Given the description of an element on the screen output the (x, y) to click on. 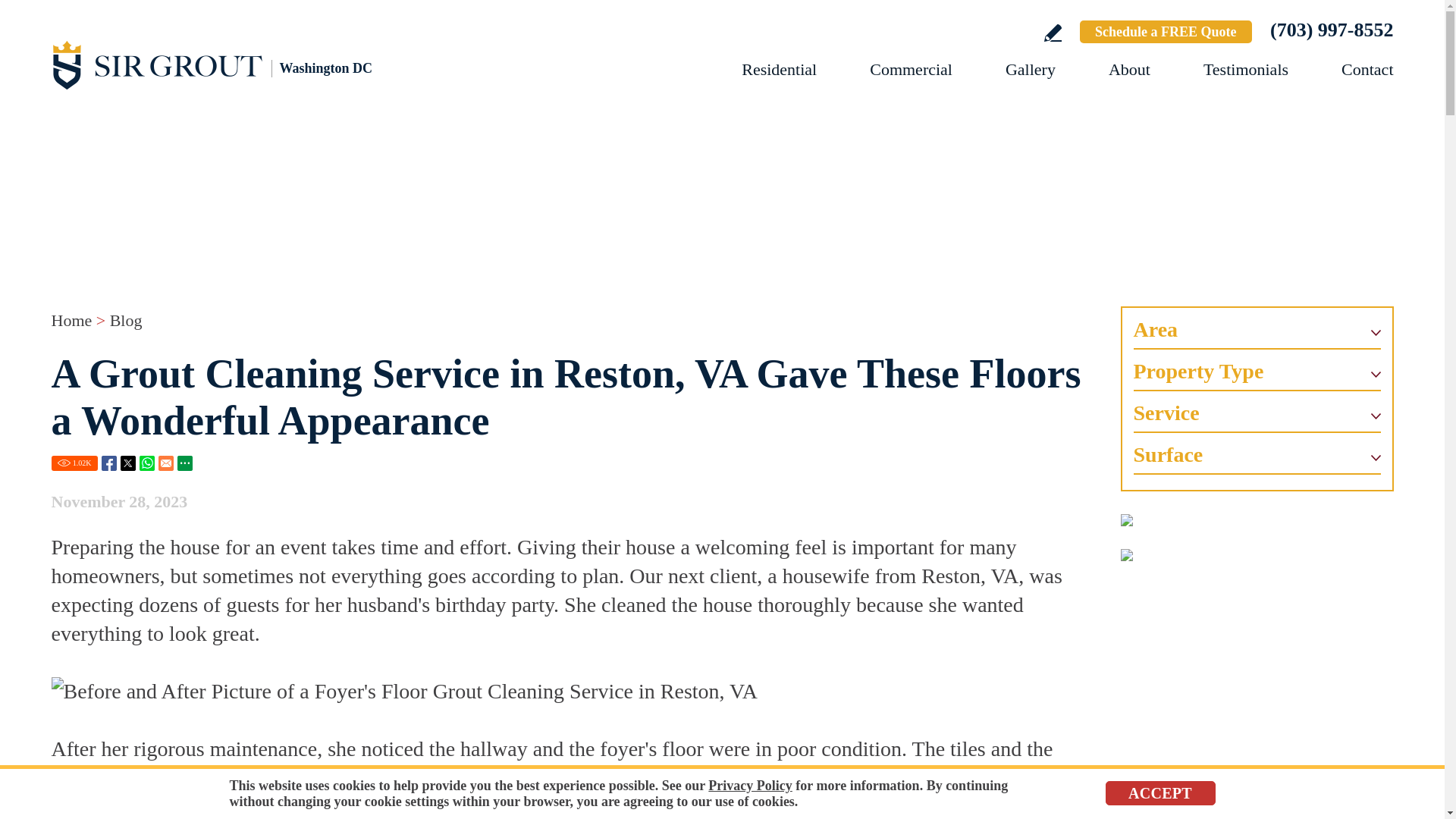
Call Sir Grout Washington DC Metro (1331, 29)
Write a Review (1052, 32)
Schedule a FREE Quote (1166, 31)
Residential (778, 68)
Washington DC (217, 64)
About (1129, 68)
Residential Services (778, 68)
Write a Review (1052, 32)
Gallery (1030, 68)
Sir Grout Washington DC Metro (217, 64)
